Given the description of an element on the screen output the (x, y) to click on. 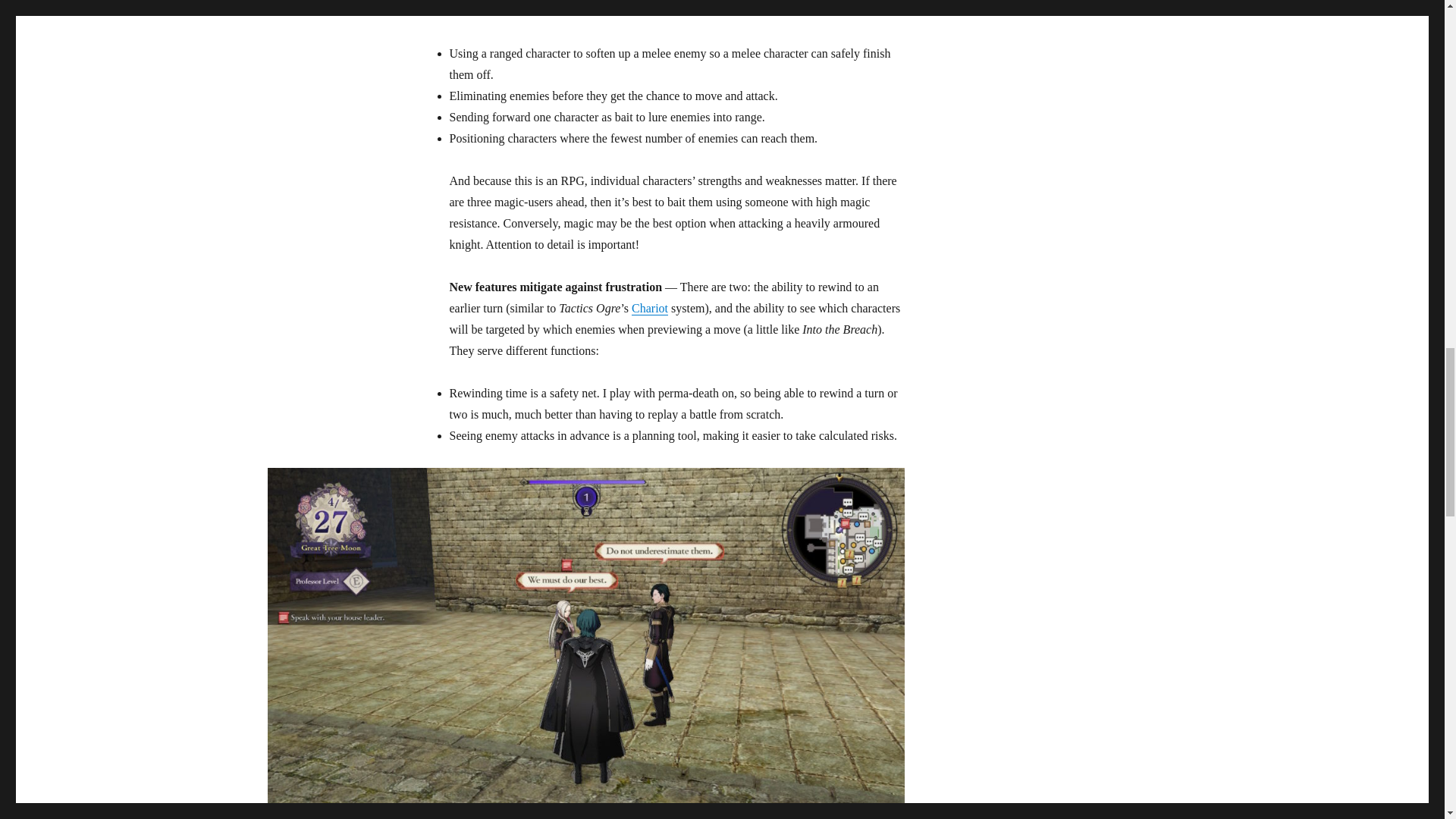
Chariot (649, 308)
